Given the description of an element on the screen output the (x, y) to click on. 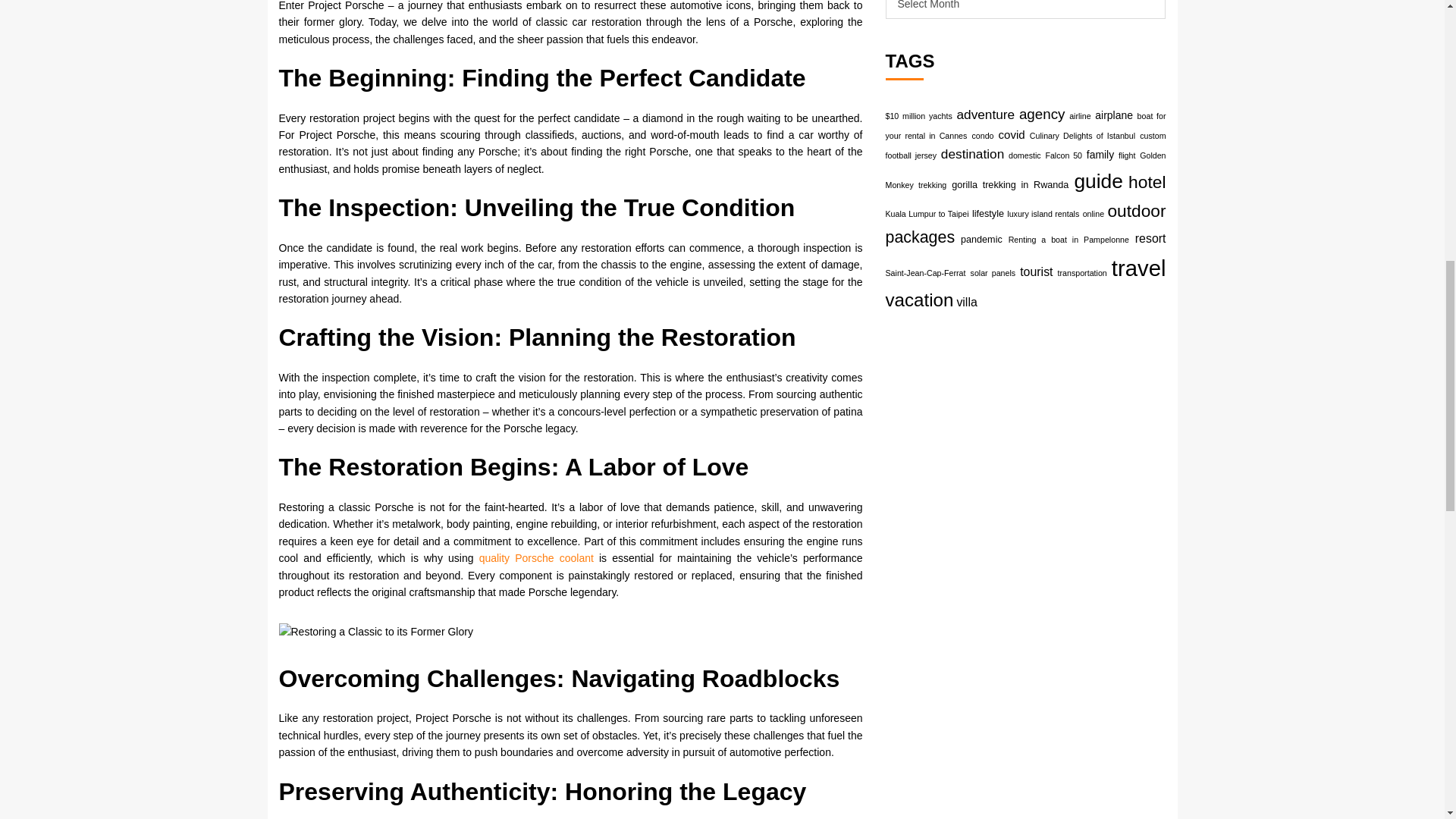
Project Porsche: Restoring a Classic to its Former Glory 2 (376, 631)
quality Porsche coolant (536, 558)
adventure (985, 114)
